Given the description of an element on the screen output the (x, y) to click on. 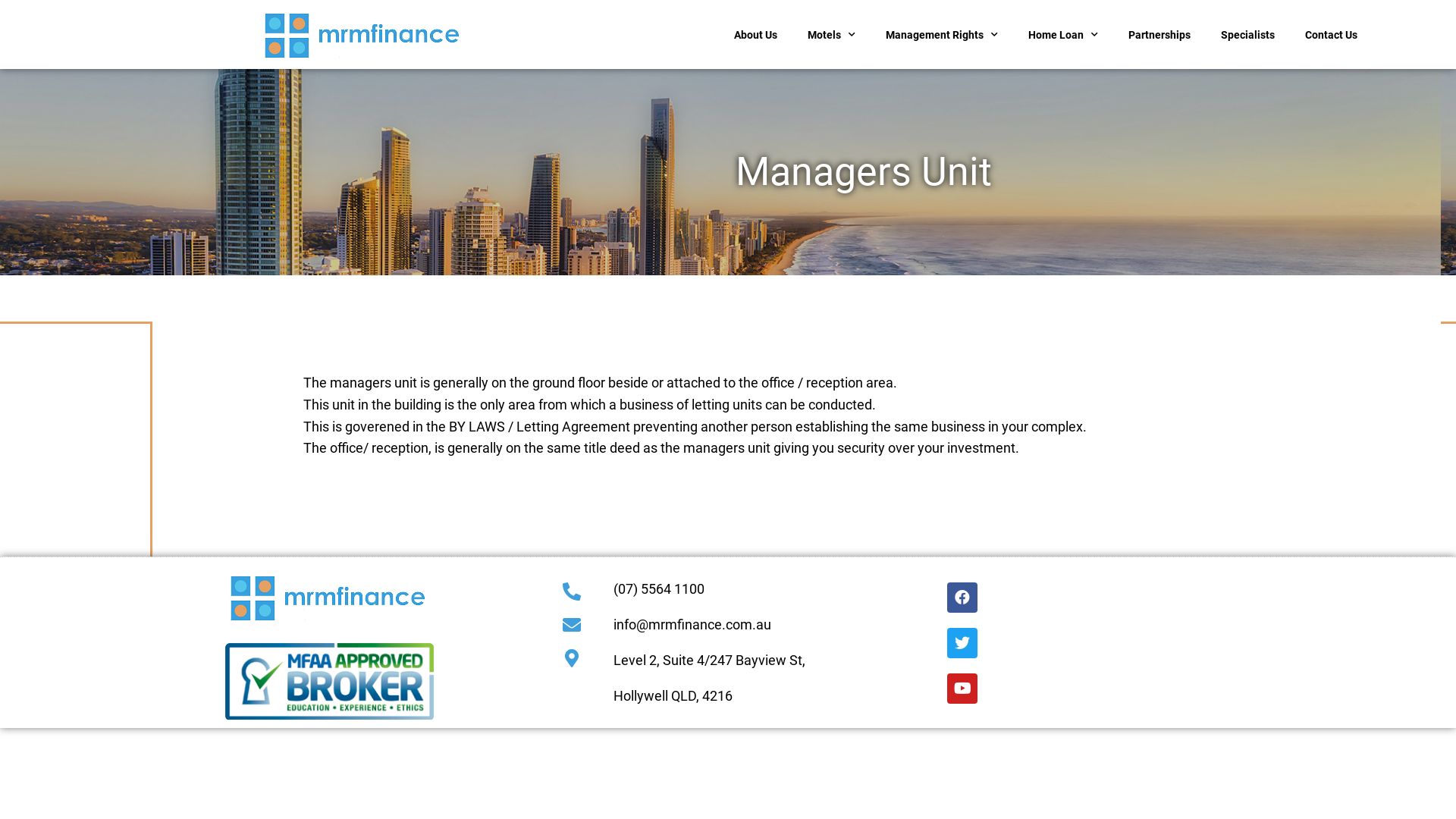
Level 2, Suite 4/247 Bayview St,   Holleywell QLD, 4216 Element type: hover (1213, 642)
Specialists Element type: text (1247, 34)
Partnerships Element type: text (1159, 34)
Motels Element type: text (831, 34)
Contact Us Element type: text (1330, 34)
Home Loan Element type: text (1063, 34)
Management Rights Element type: text (941, 34)
About Us Element type: text (755, 34)
